Given the description of an element on the screen output the (x, y) to click on. 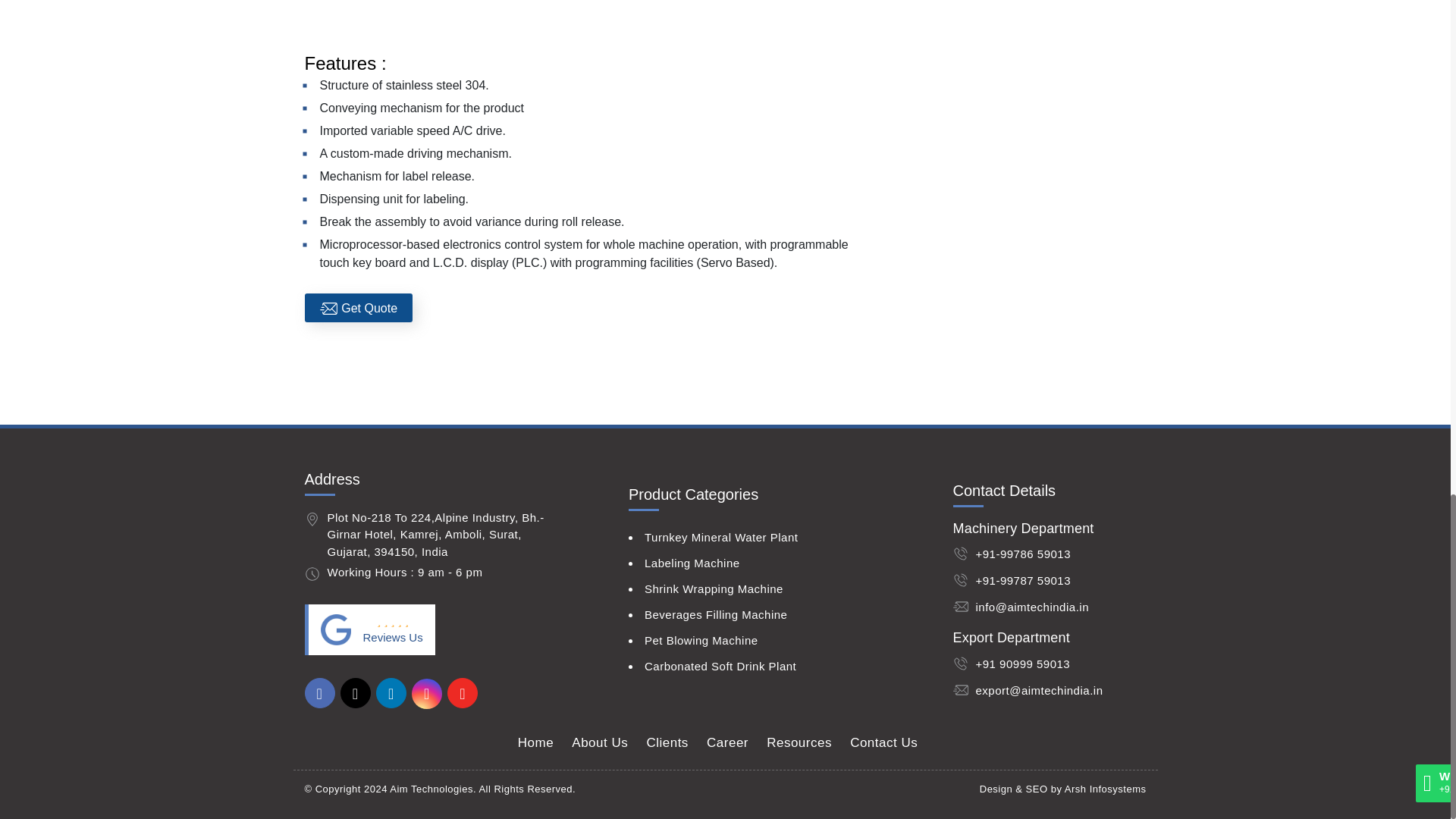
Mineral Water Plant (580, 12)
Location (312, 519)
Facebook (320, 694)
Home (535, 742)
Time (312, 573)
Youtube (463, 694)
Email (1031, 606)
Twitter (356, 694)
Instagram (428, 694)
Call (1022, 580)
Get Quote (358, 307)
Google (335, 629)
Linkedin (392, 694)
Mail (1038, 689)
Call (1022, 553)
